Given the description of an element on the screen output the (x, y) to click on. 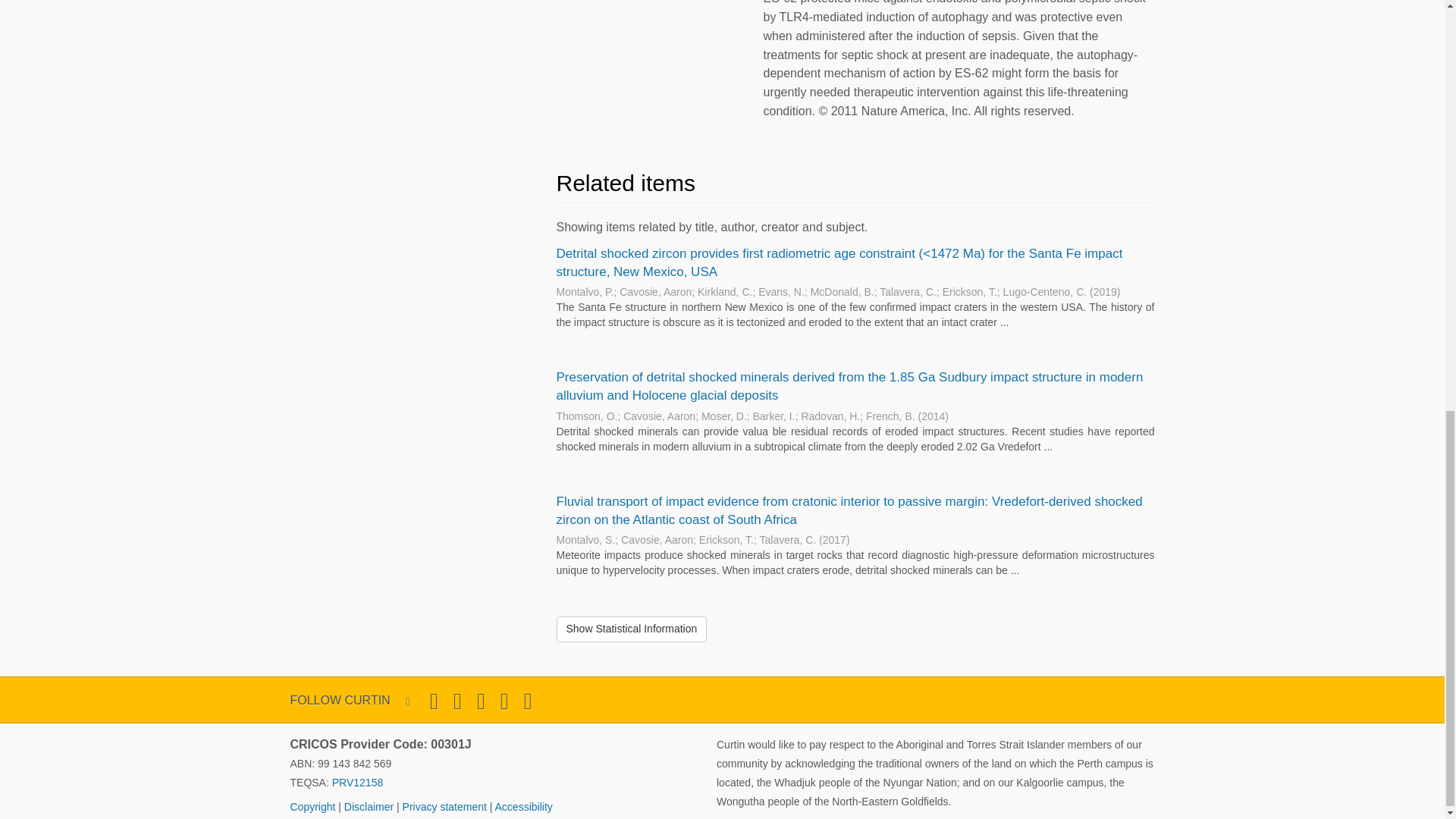
Show Statistical Information (631, 629)
